Given the description of an element on the screen output the (x, y) to click on. 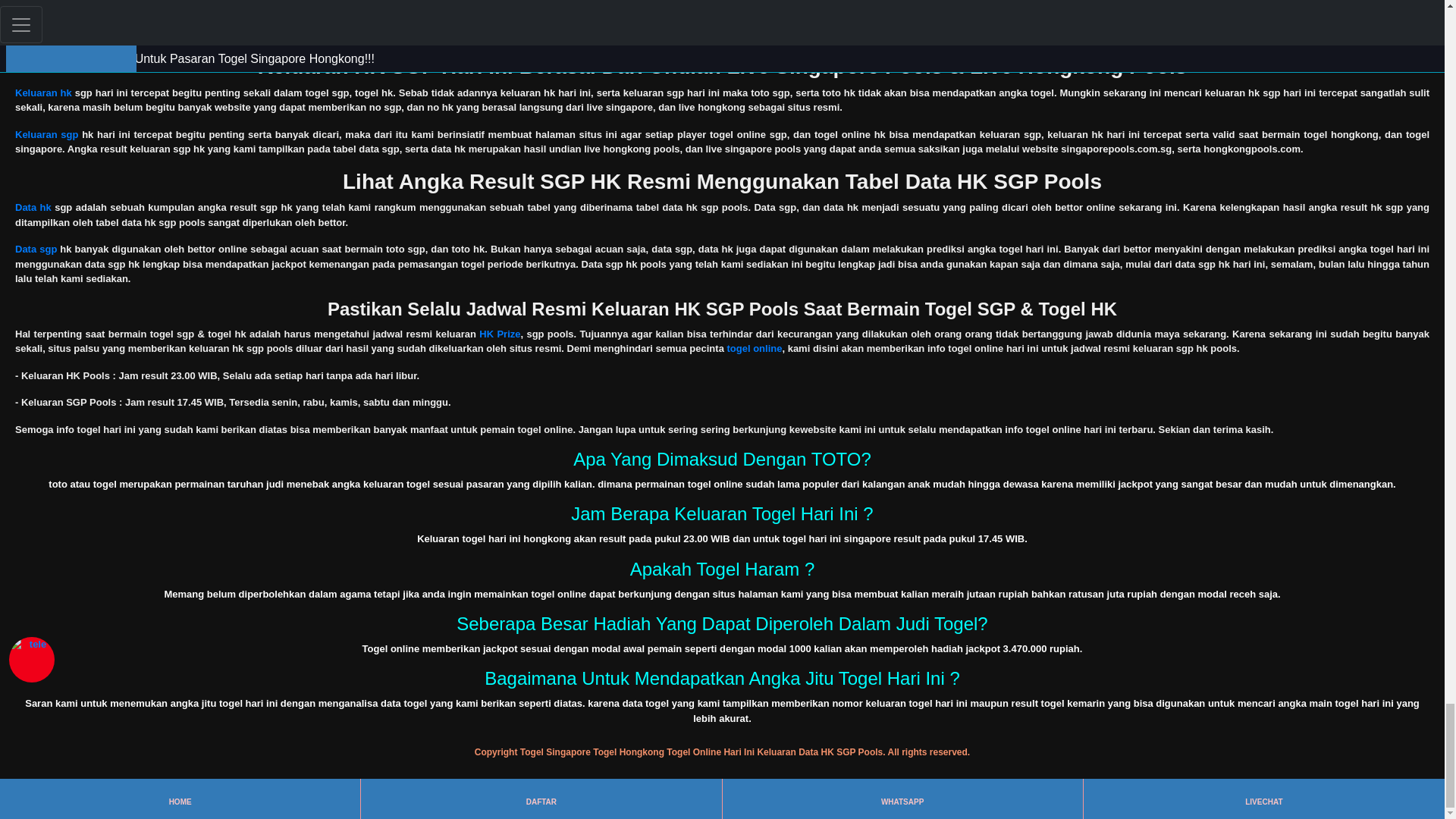
Data sgp (35, 248)
Keluaran hk (42, 92)
Togel hari ini (45, 19)
Data hk (32, 206)
HK Prize (499, 333)
togel online (753, 348)
Keluaran sgp (46, 134)
